Given the description of an element on the screen output the (x, y) to click on. 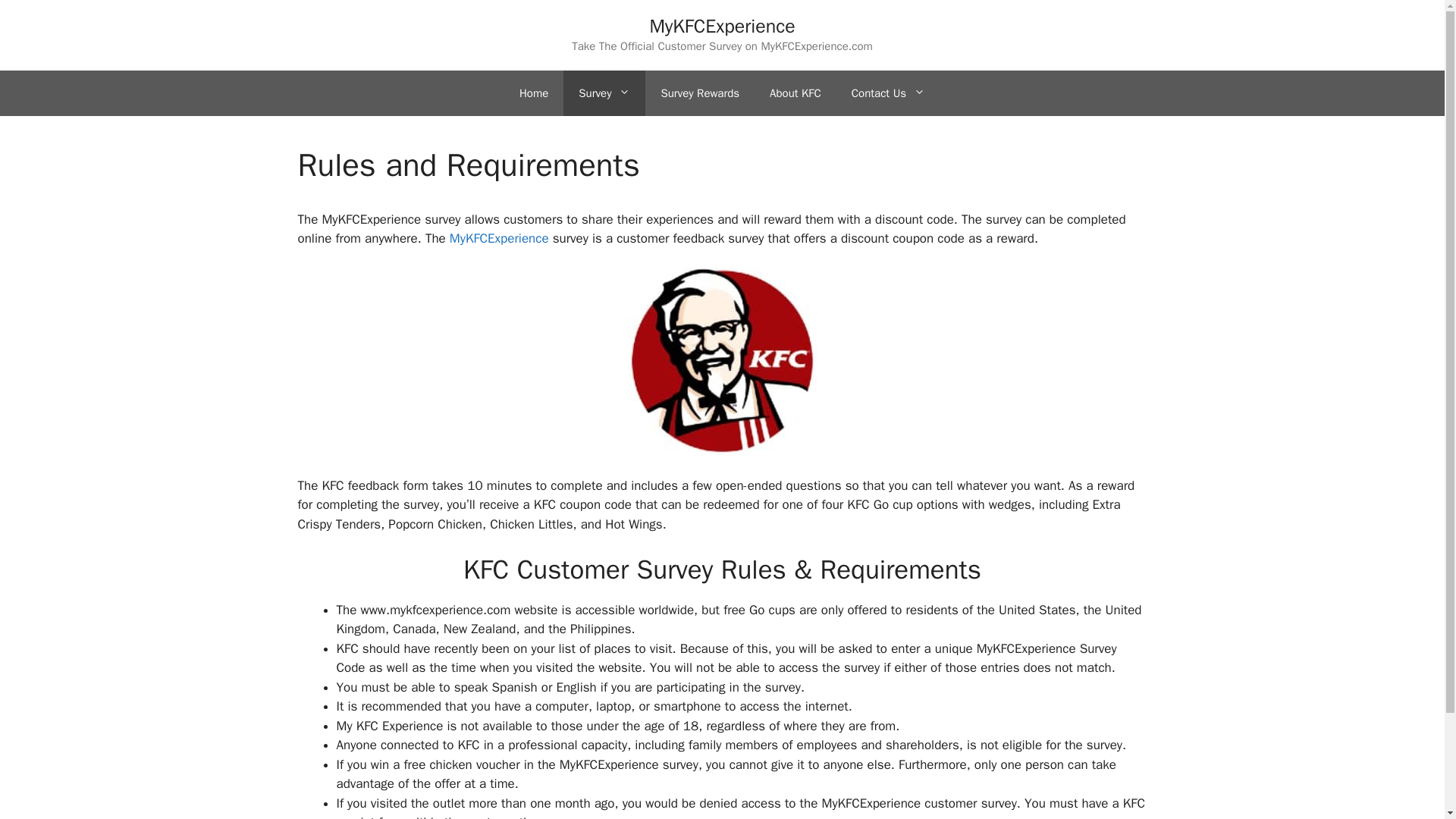
Survey Rewards (699, 92)
About KFC (794, 92)
Contact Us (887, 92)
Survey (604, 92)
Home (533, 92)
MyKFCExperience (721, 25)
MyKFCExperience (498, 238)
